Given the description of an element on the screen output the (x, y) to click on. 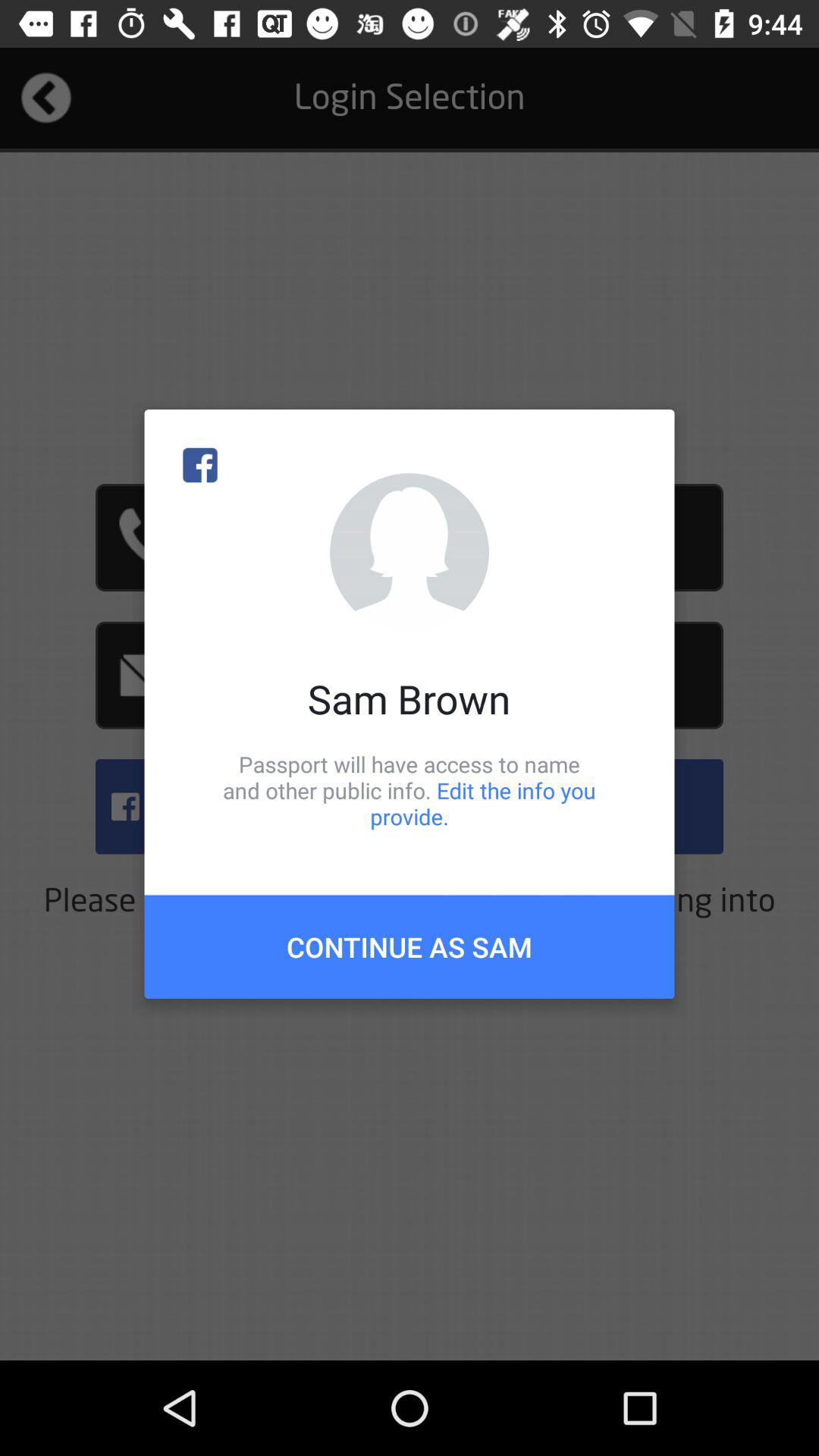
scroll to the continue as sam icon (409, 946)
